Given the description of an element on the screen output the (x, y) to click on. 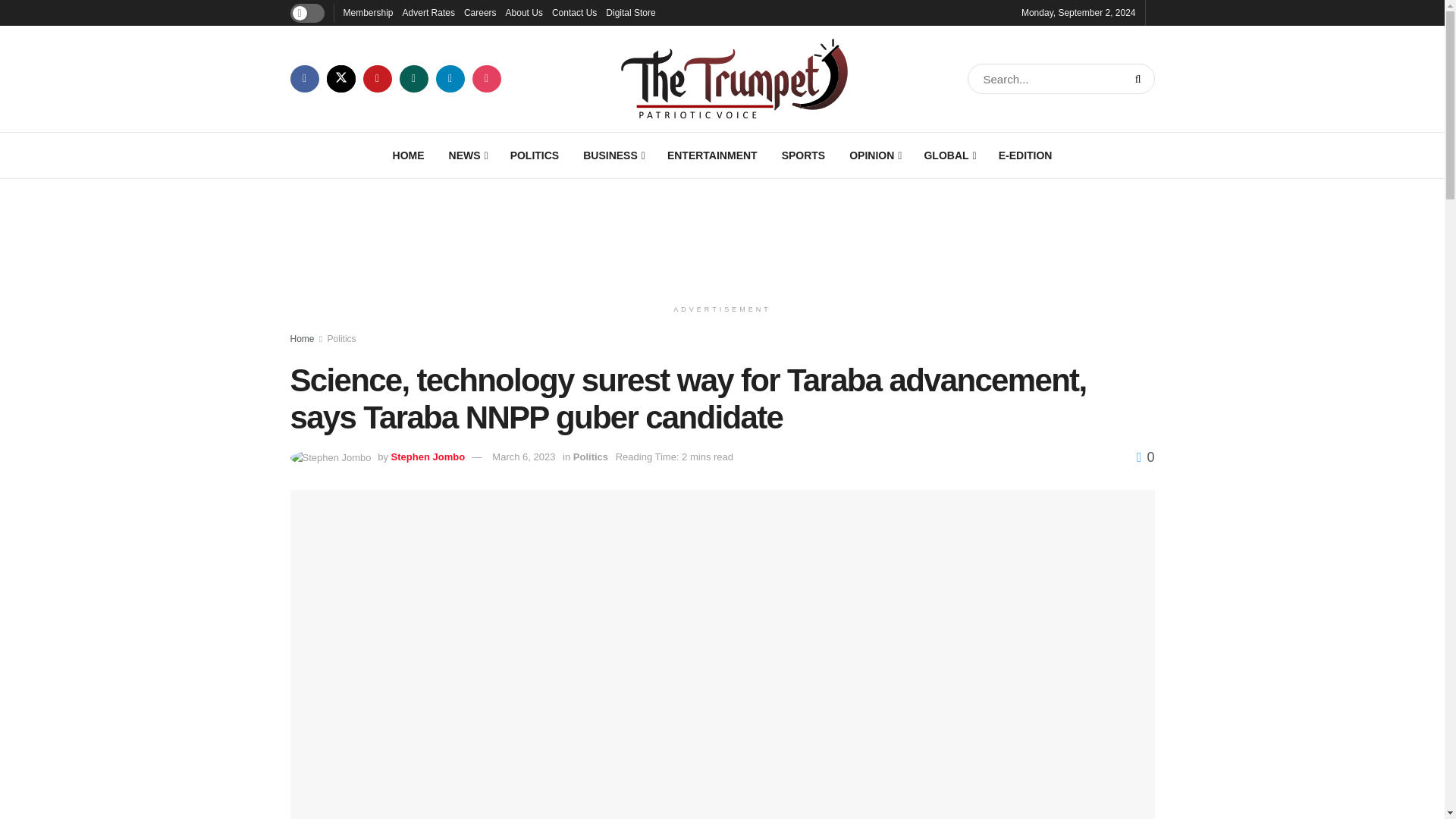
About Us (524, 12)
Digital Store (630, 12)
Contact Us (573, 12)
NEWS (466, 155)
POLITICS (534, 155)
HOME (408, 155)
Membership (367, 12)
Careers (480, 12)
SPORTS (804, 155)
GLOBAL (948, 155)
